Given the description of an element on the screen output the (x, y) to click on. 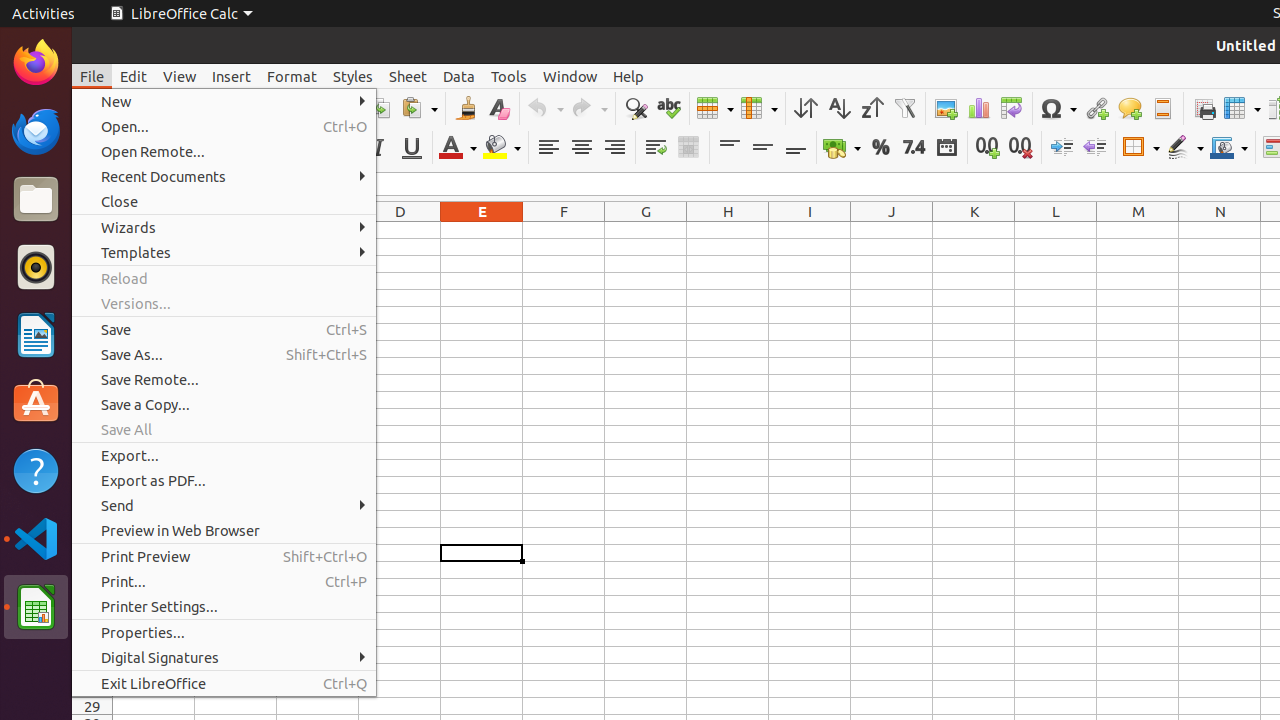
Open... Element type: menu-item (224, 126)
Symbol Element type: push-button (1058, 108)
LibreOffice Calc Element type: menu (181, 13)
Save As... Element type: menu-item (224, 354)
Border Color Element type: push-button (1229, 147)
